Given the description of an element on the screen output the (x, y) to click on. 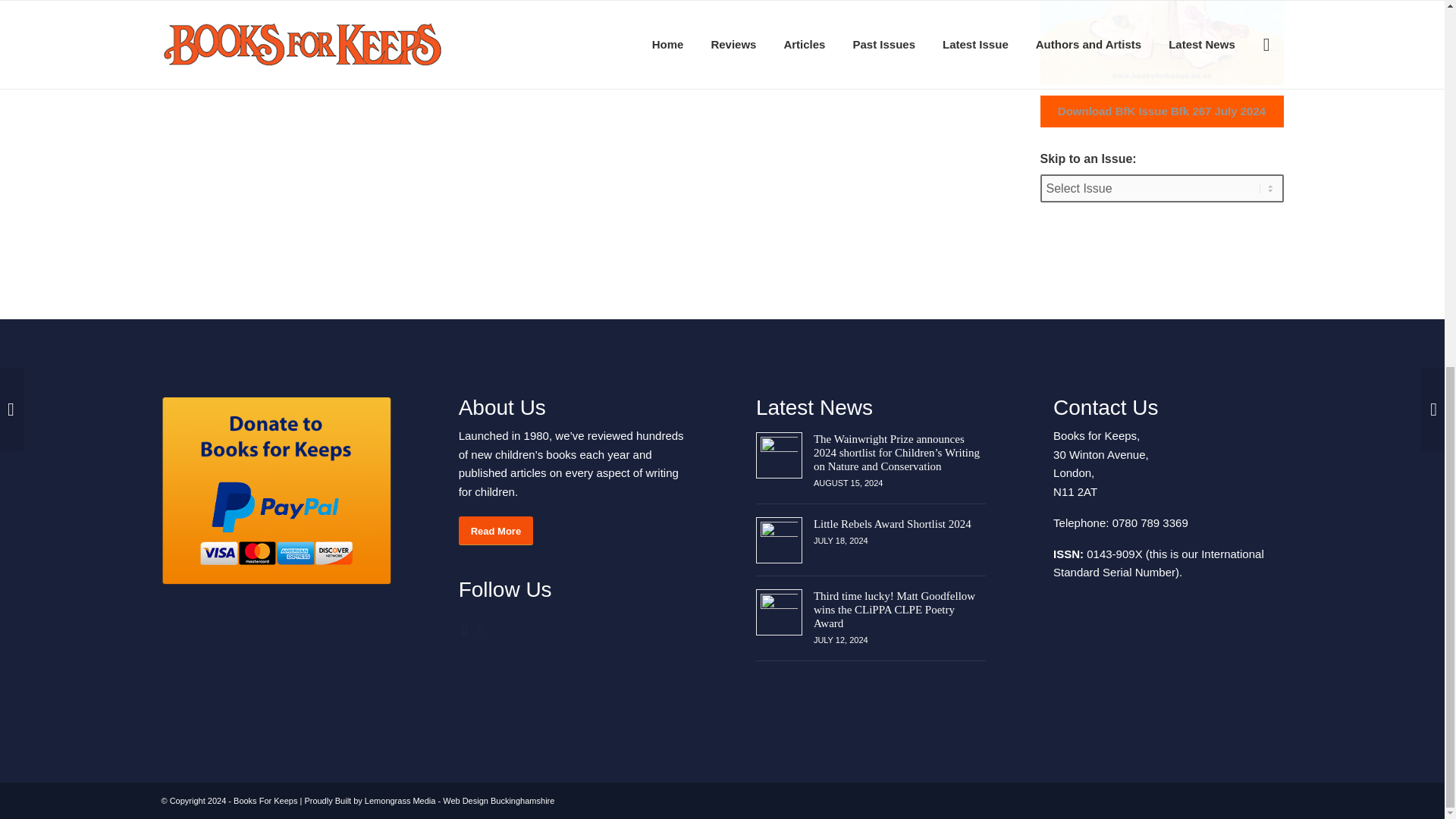
Read More (495, 531)
Link to: Little Rebels Award Shortlist 2024 (778, 539)
Little Rebels Award Shortlist 2024 (892, 523)
Buy the Book (208, 23)
PayPal - The safer, easier way to pay online! (275, 490)
Download BfK Issue Bfk 267 July 2024 (1162, 111)
